Given the description of an element on the screen output the (x, y) to click on. 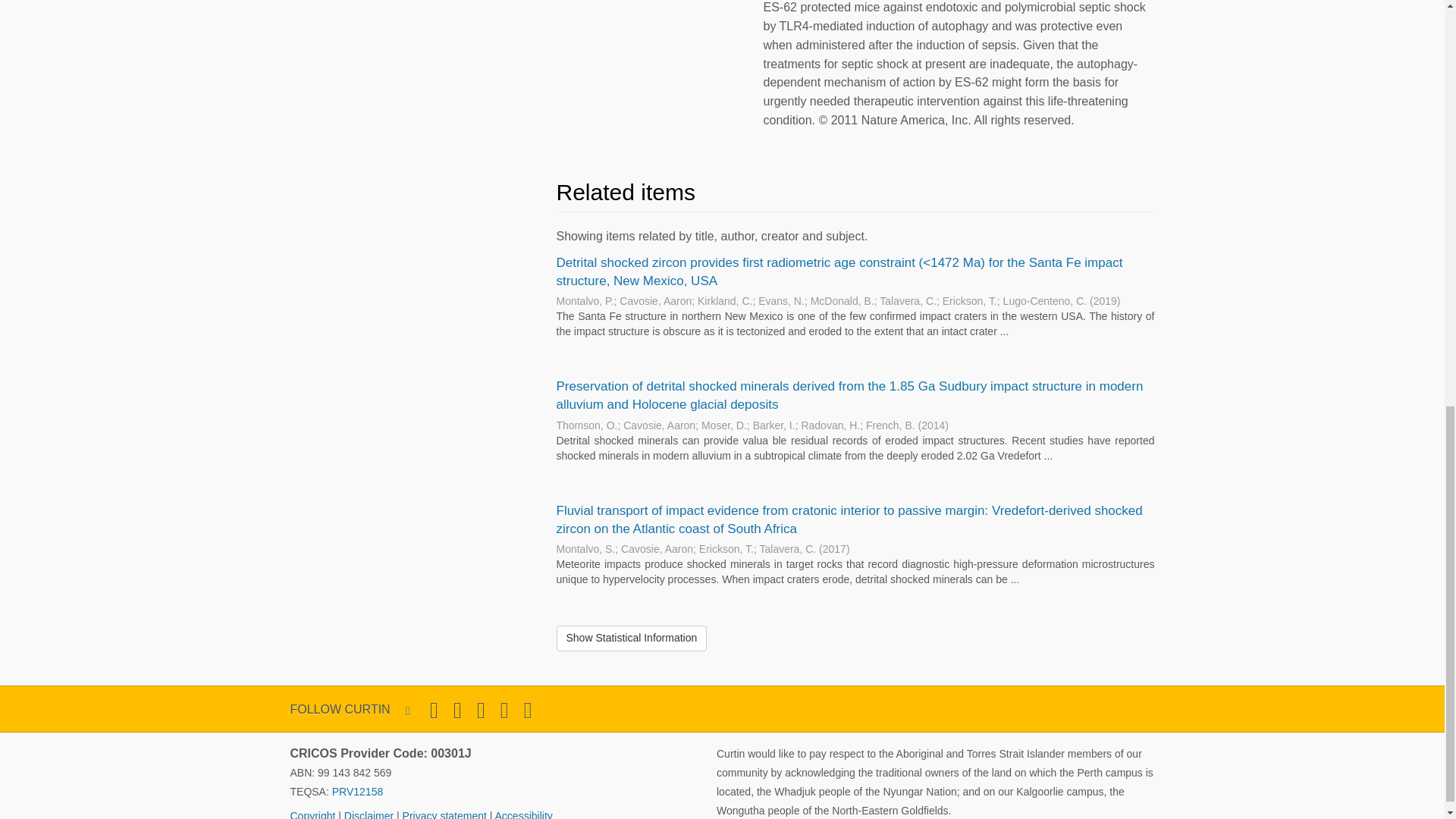
Show Statistical Information (631, 638)
